Given the description of an element on the screen output the (x, y) to click on. 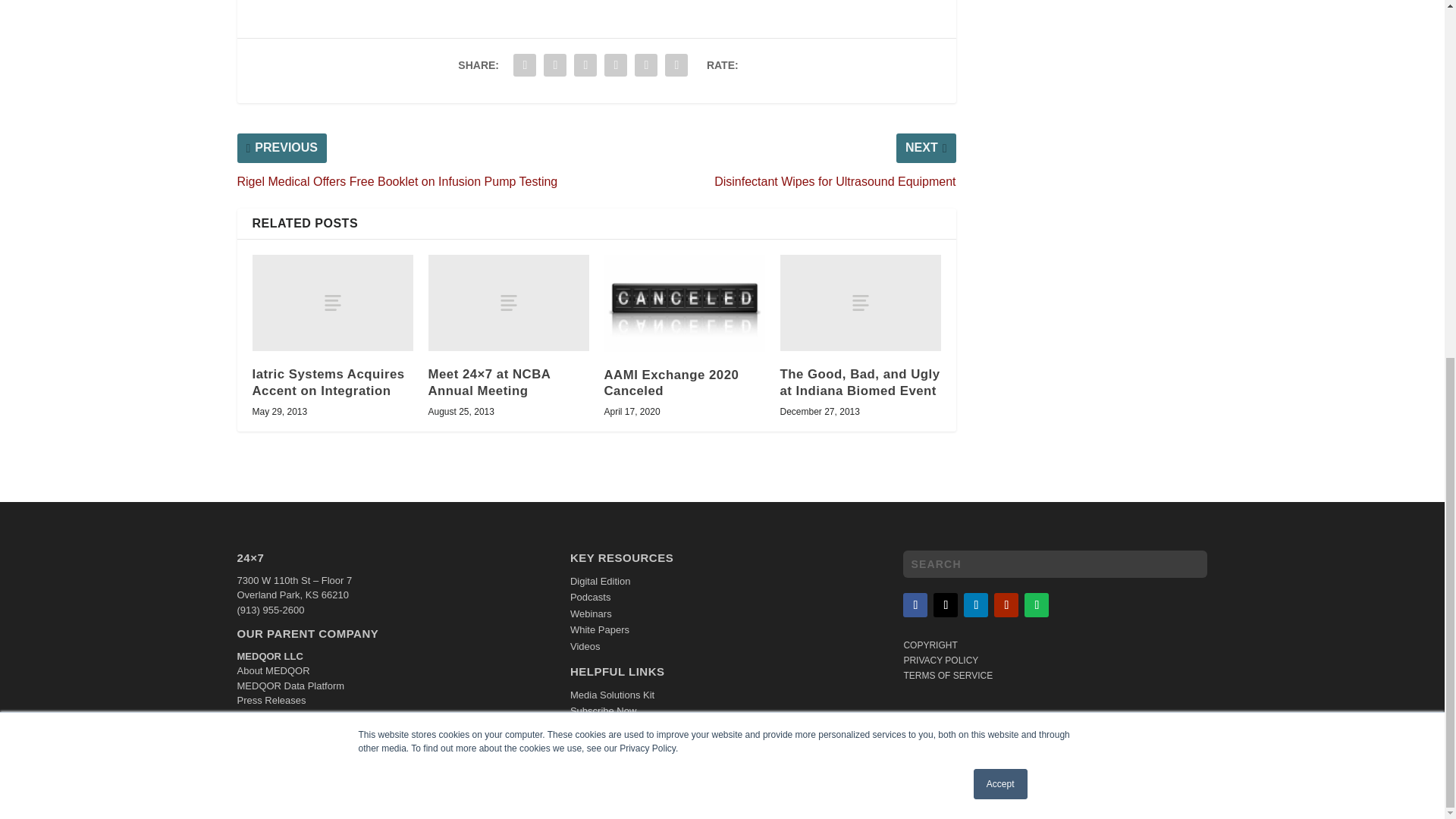
Follow on Youtube (1005, 604)
Accept (1000, 153)
Follow on LinkedIn (975, 604)
Follow on Facebook (914, 604)
Iatric Systems Acquires Accent on Integration (331, 302)
Follow on X (945, 604)
AAMI Exchange 2020 Canceled (684, 302)
The Good, Bad, and Ugly at Indiana Biomed Event (859, 302)
